Given the description of an element on the screen output the (x, y) to click on. 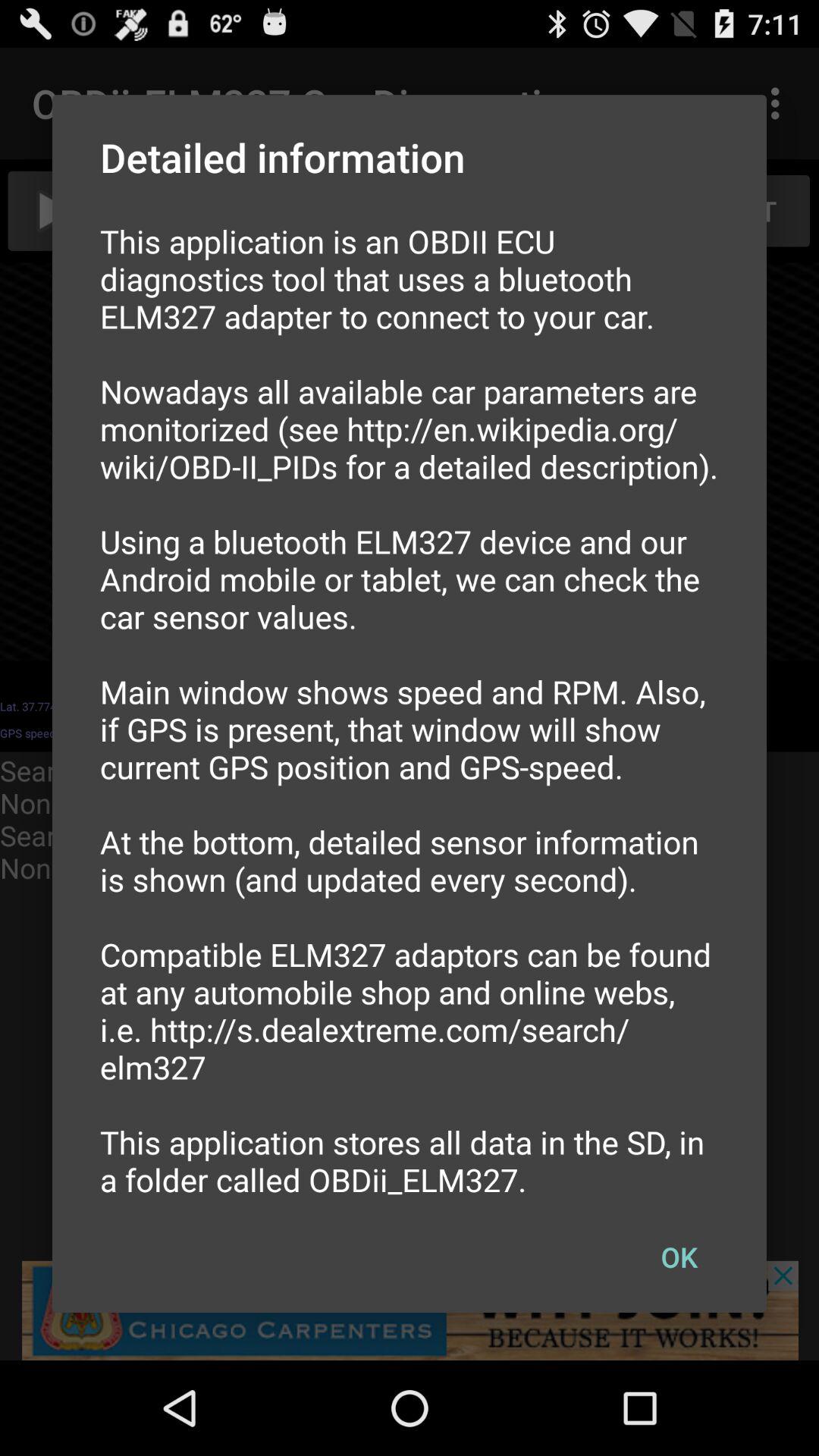
click the icon below this application is icon (678, 1256)
